Given the description of an element on the screen output the (x, y) to click on. 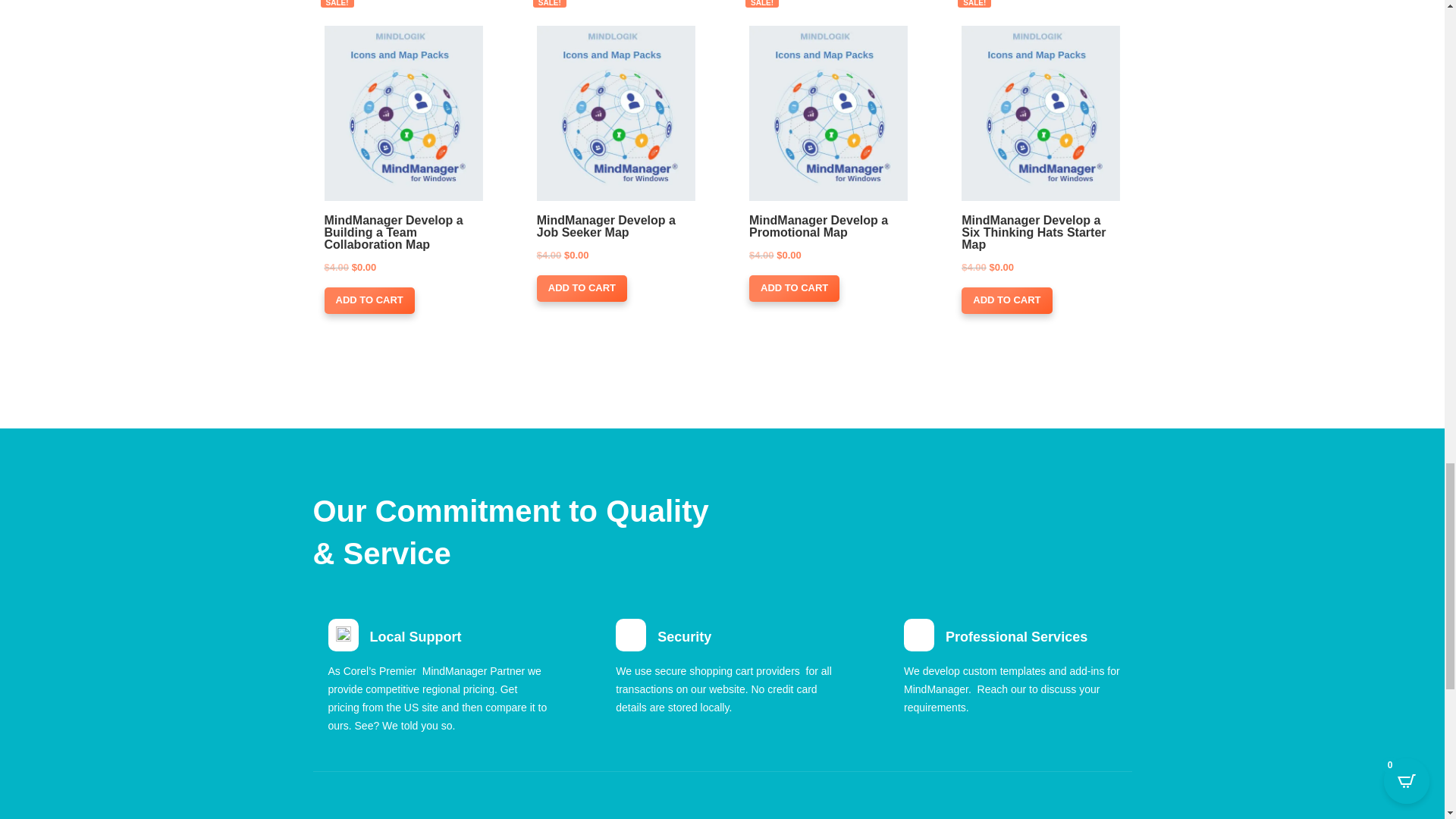
ADD TO CART (369, 299)
ADD TO CART (1005, 299)
ADD TO CART (582, 288)
ADD TO CART (794, 288)
